Given the description of an element on the screen output the (x, y) to click on. 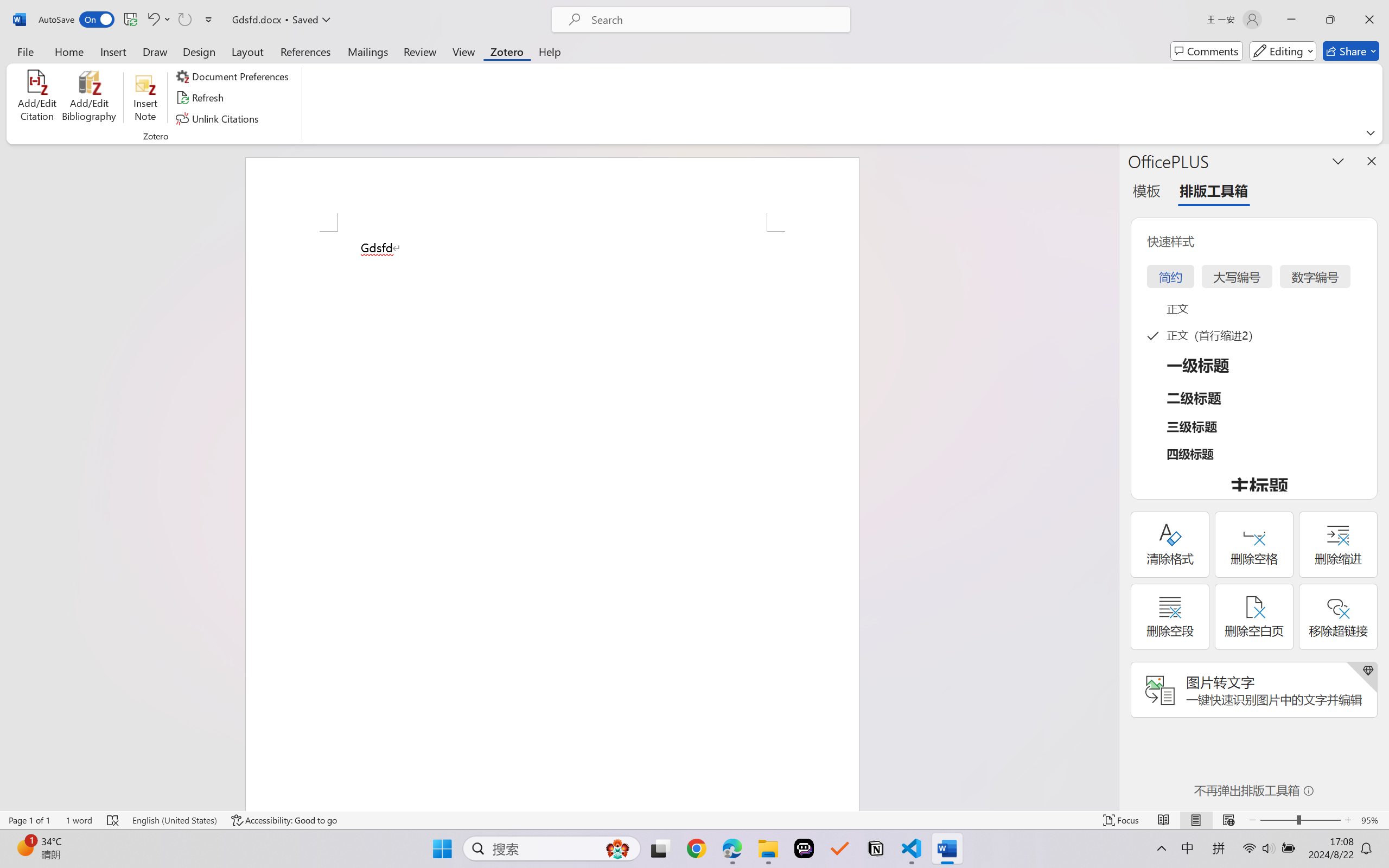
Zoom 95% (1372, 819)
Undo <ApplyStyleToDoc>b__0 (158, 19)
Unlink Citations (218, 118)
Spelling and Grammar Check Errors (113, 819)
Insert Note (145, 97)
